Given the description of an element on the screen output the (x, y) to click on. 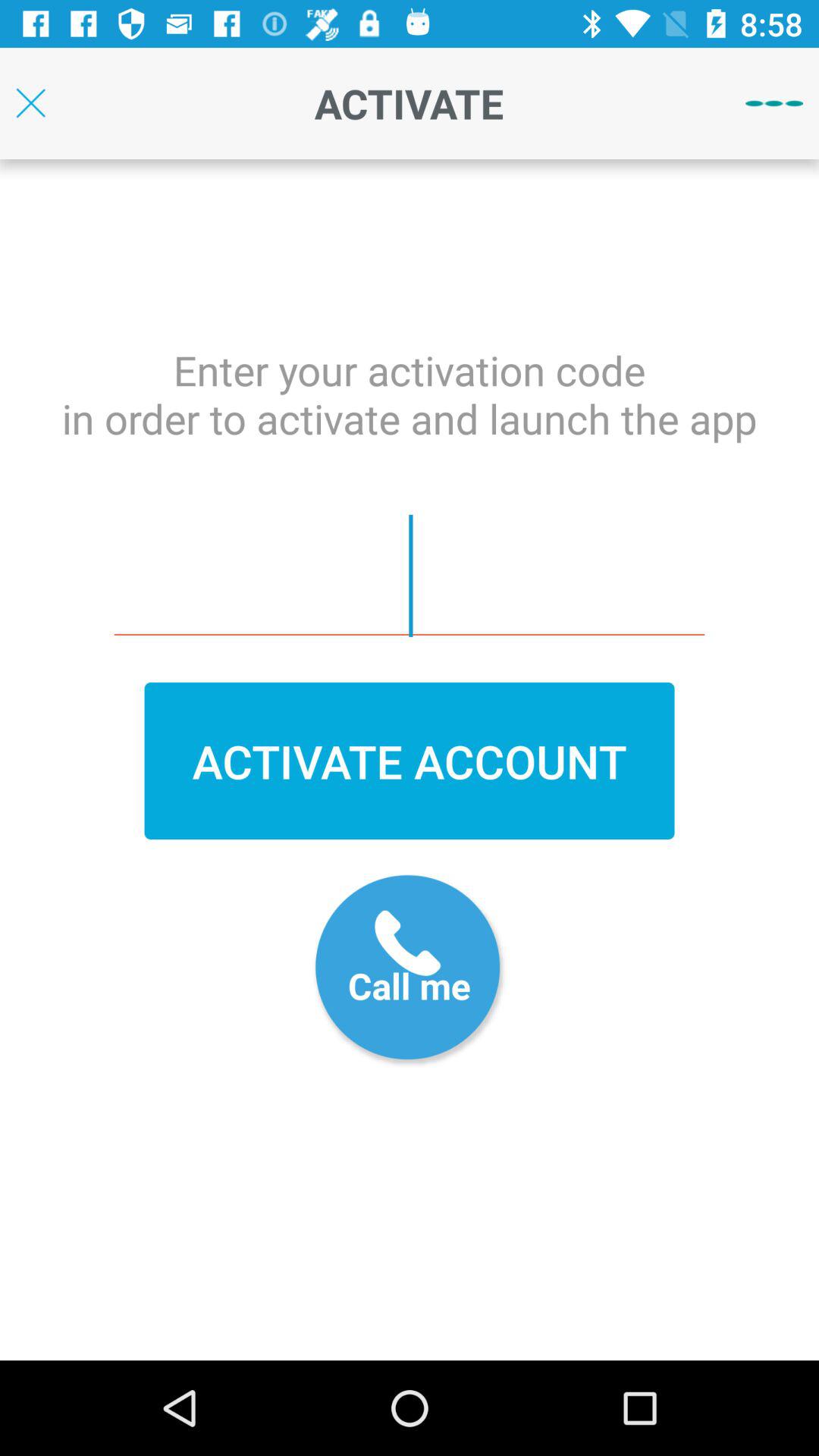
show more (774, 103)
